Given the description of an element on the screen output the (x, y) to click on. 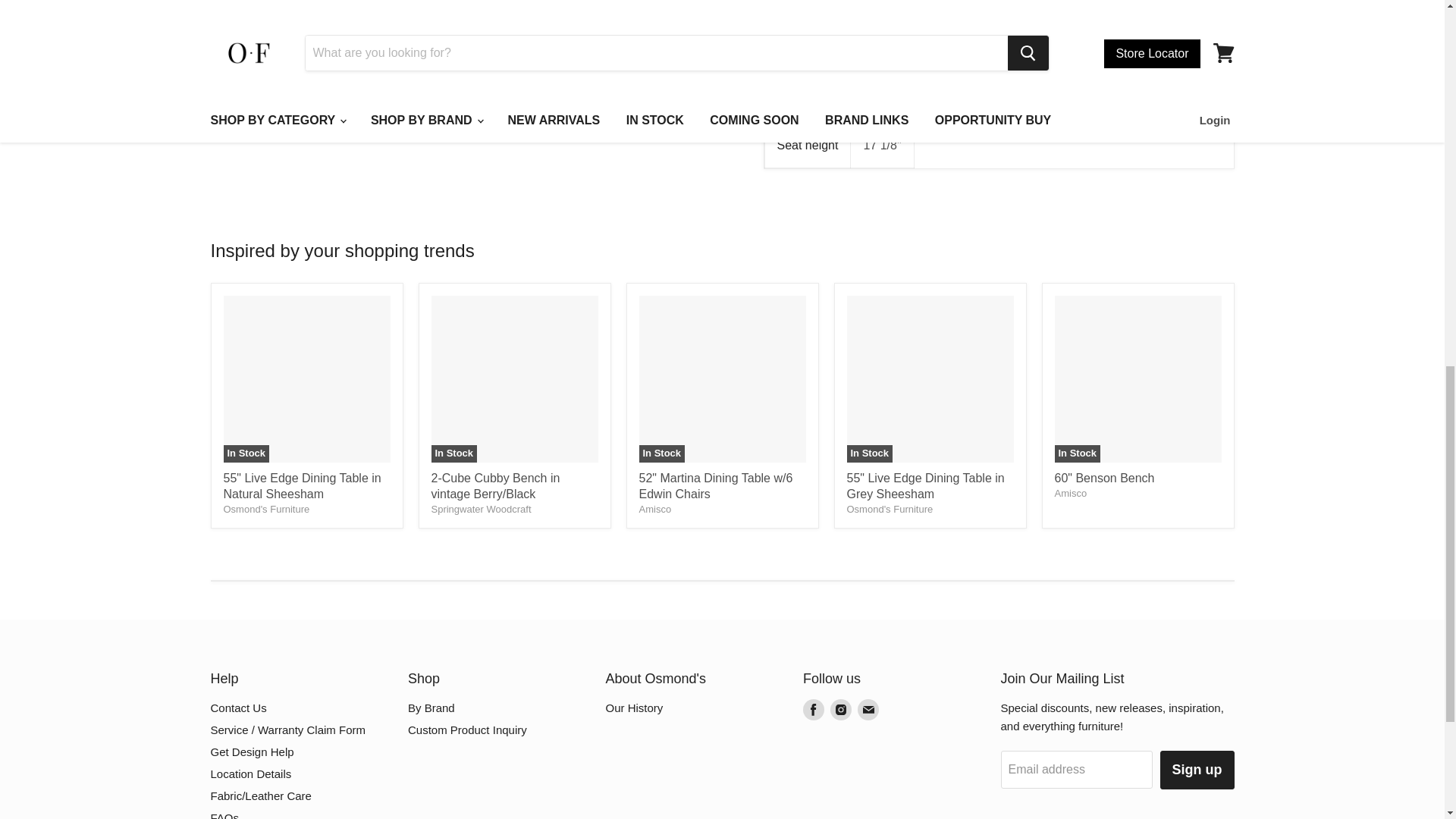
Amisco (1070, 492)
Instagram (840, 709)
Osmond's Furniture (265, 509)
E-mail (868, 709)
Amisco (655, 509)
Osmond's Furniture (889, 509)
Facebook (813, 709)
Springwater Woodcraft (480, 509)
